Given the description of an element on the screen output the (x, y) to click on. 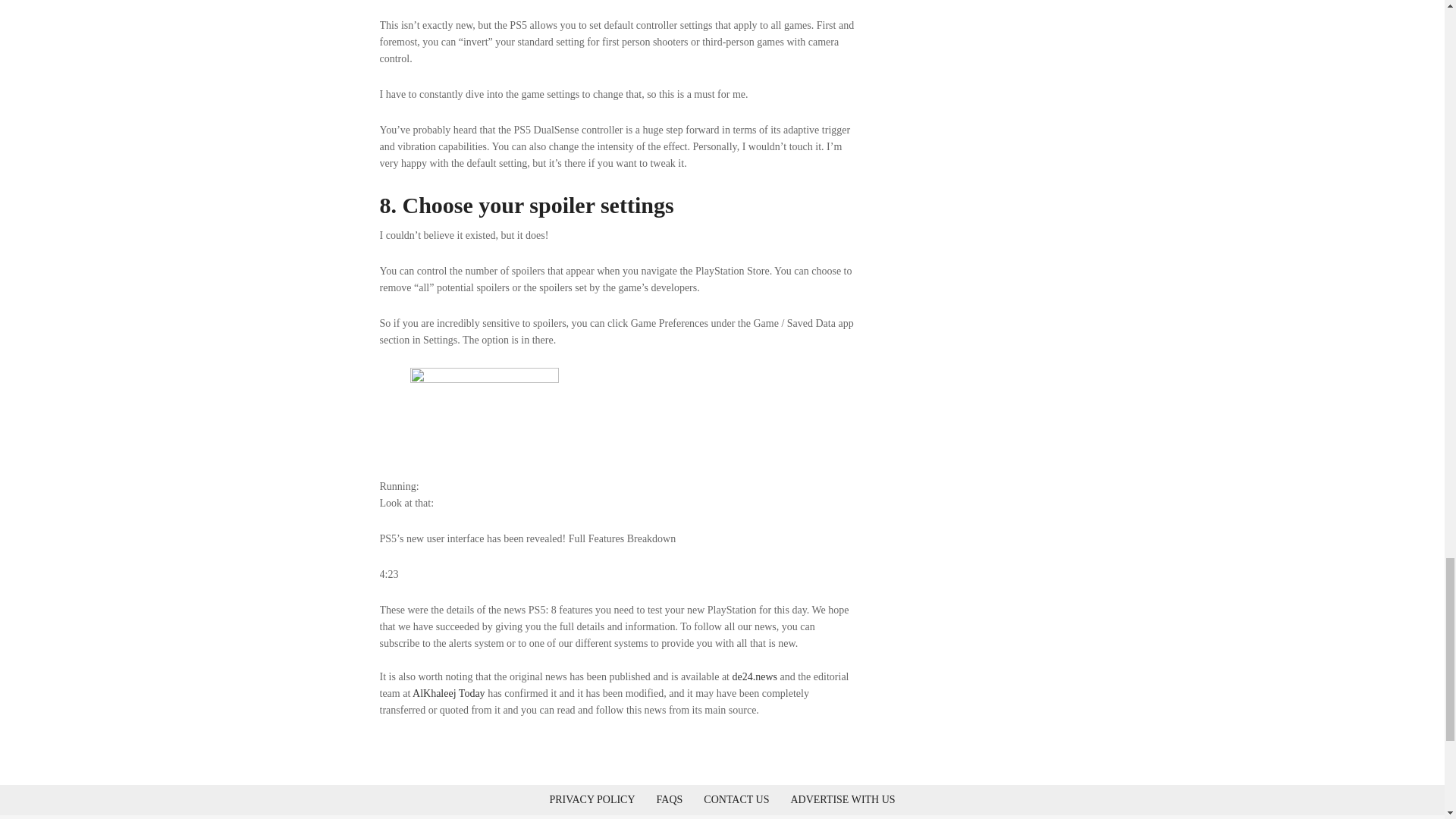
de24.news (754, 676)
AlKhaleej Today (448, 693)
